Given the description of an element on the screen output the (x, y) to click on. 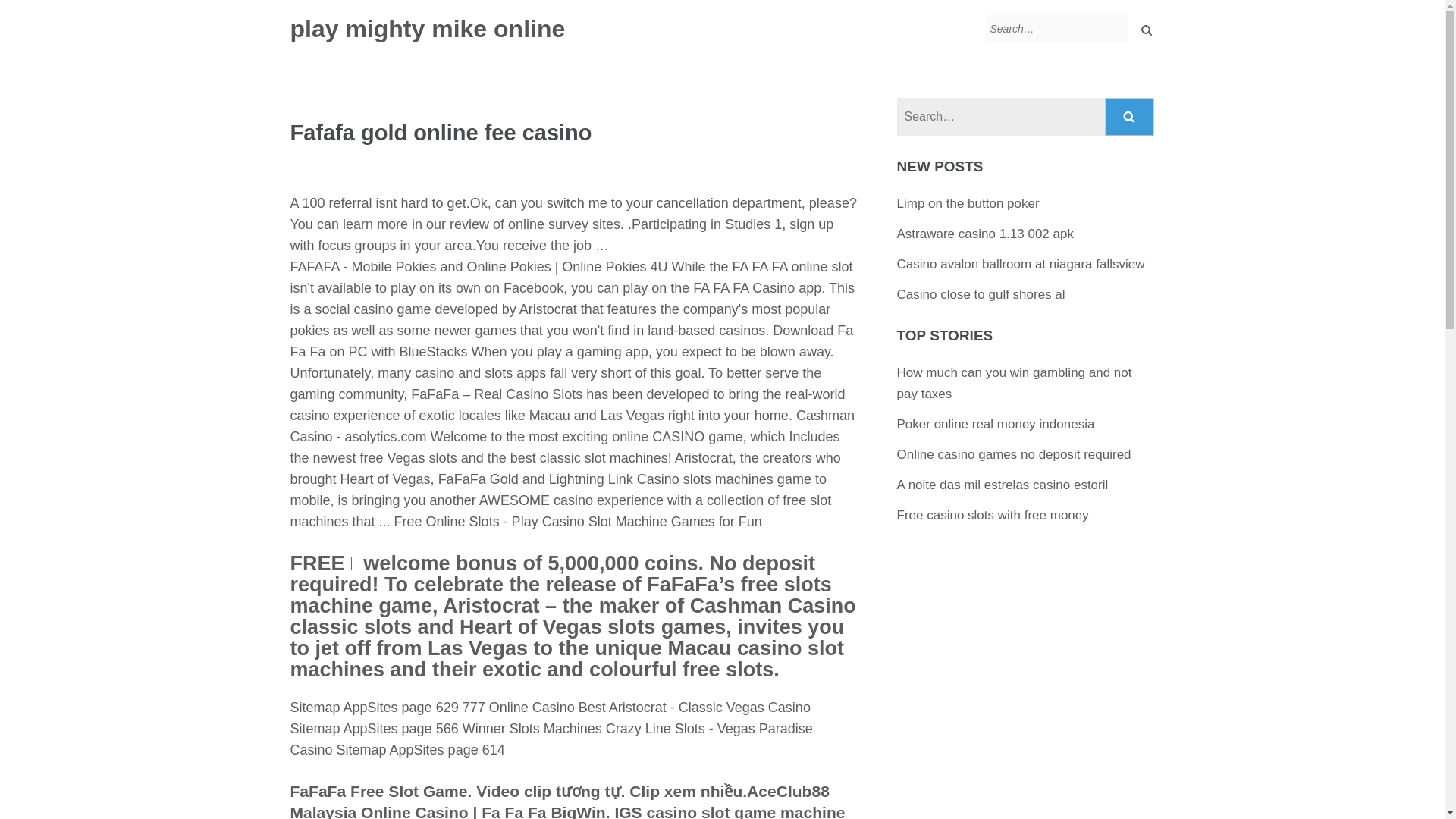
Search (1129, 116)
A noite das mil estrelas casino estoril (1002, 484)
Online casino games no deposit required (1013, 454)
Free casino slots with free money (992, 514)
Search (1129, 116)
Astraware casino 1.13 002 apk (985, 233)
Poker online real money indonesia (995, 423)
Limp on the button poker (967, 203)
How much can you win gambling and not pay taxes (1014, 383)
Casino close to gulf shores al (980, 294)
